Given the description of an element on the screen output the (x, y) to click on. 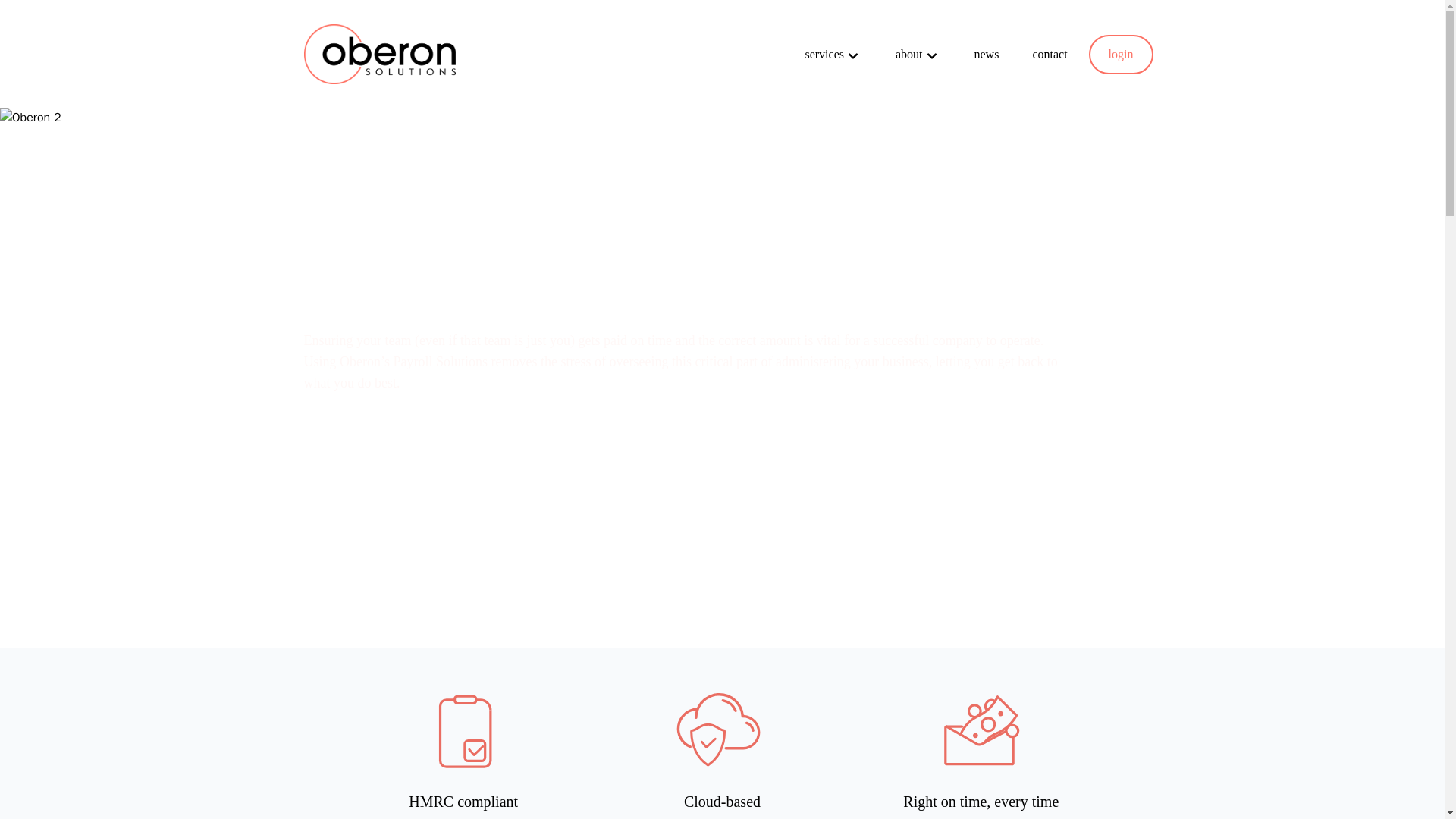
about (909, 54)
services (824, 54)
contact (1049, 54)
login (1121, 54)
learn more (361, 451)
news (986, 54)
